Given the description of an element on the screen output the (x, y) to click on. 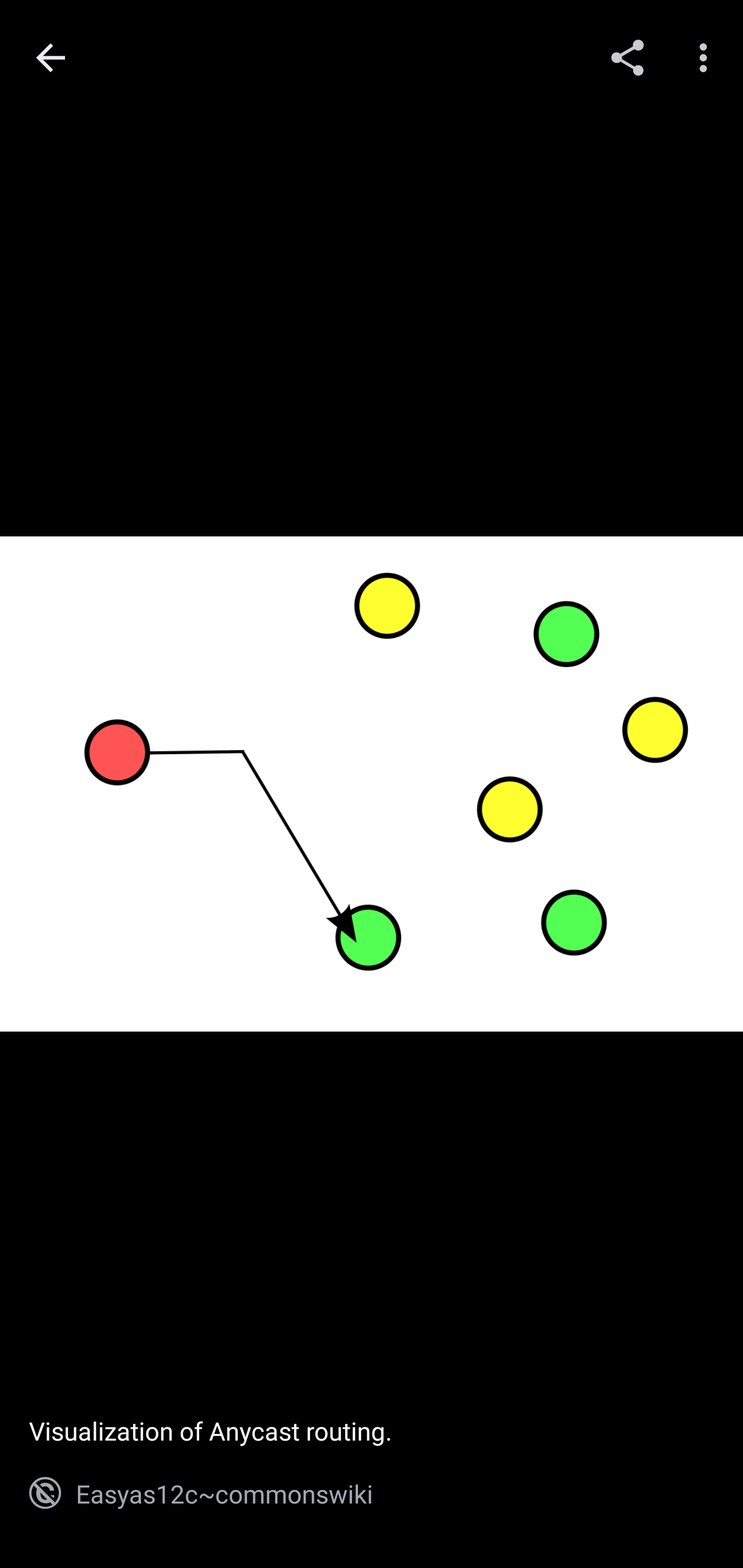
Navigate up (50, 57)
Share (626, 57)
More options (706, 57)
Public domain (44, 1492)
